Given the description of an element on the screen output the (x, y) to click on. 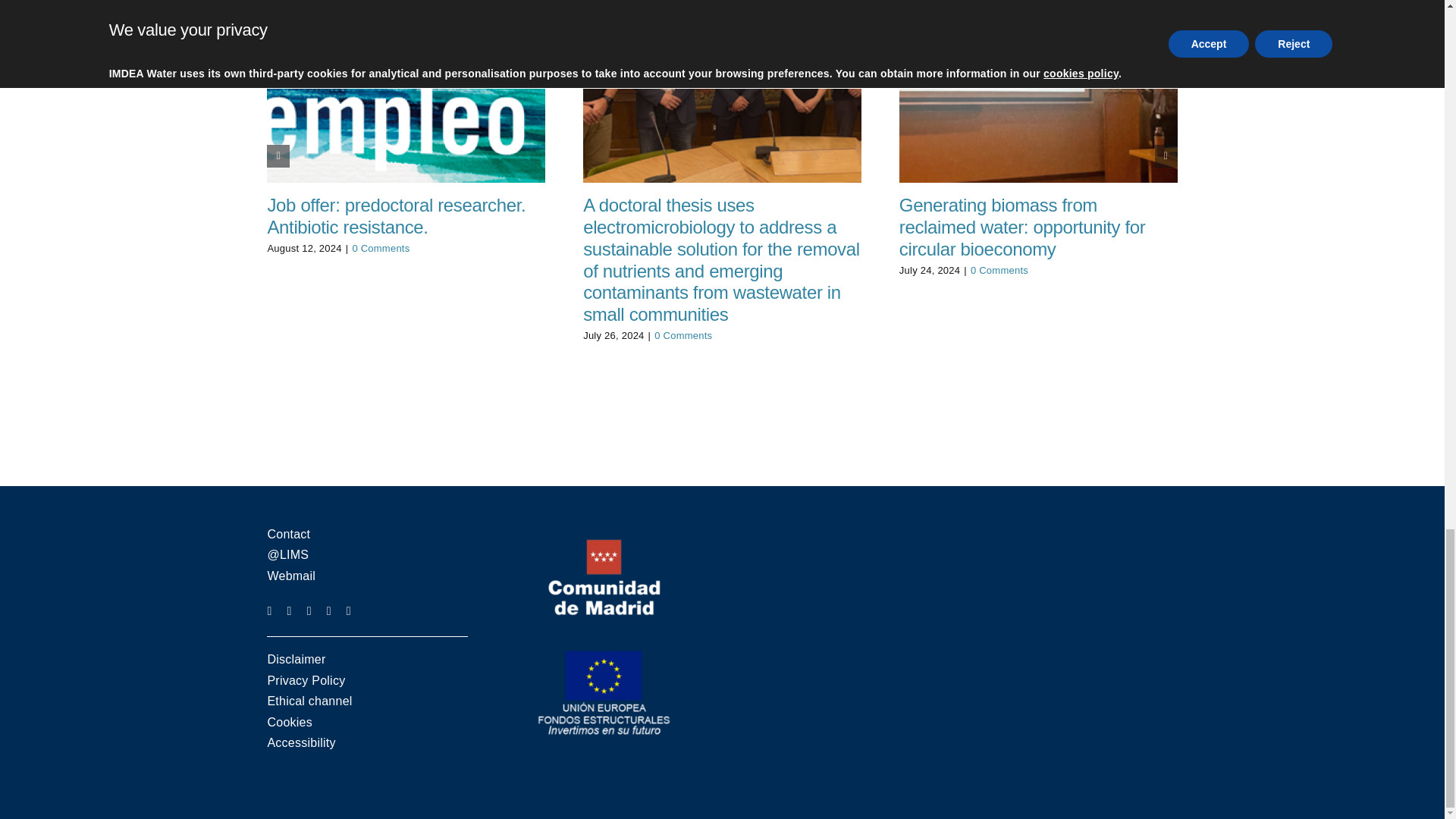
Job offer: predoctoral researcher. Antibiotic resistance. (395, 215)
